Given the description of an element on the screen output the (x, y) to click on. 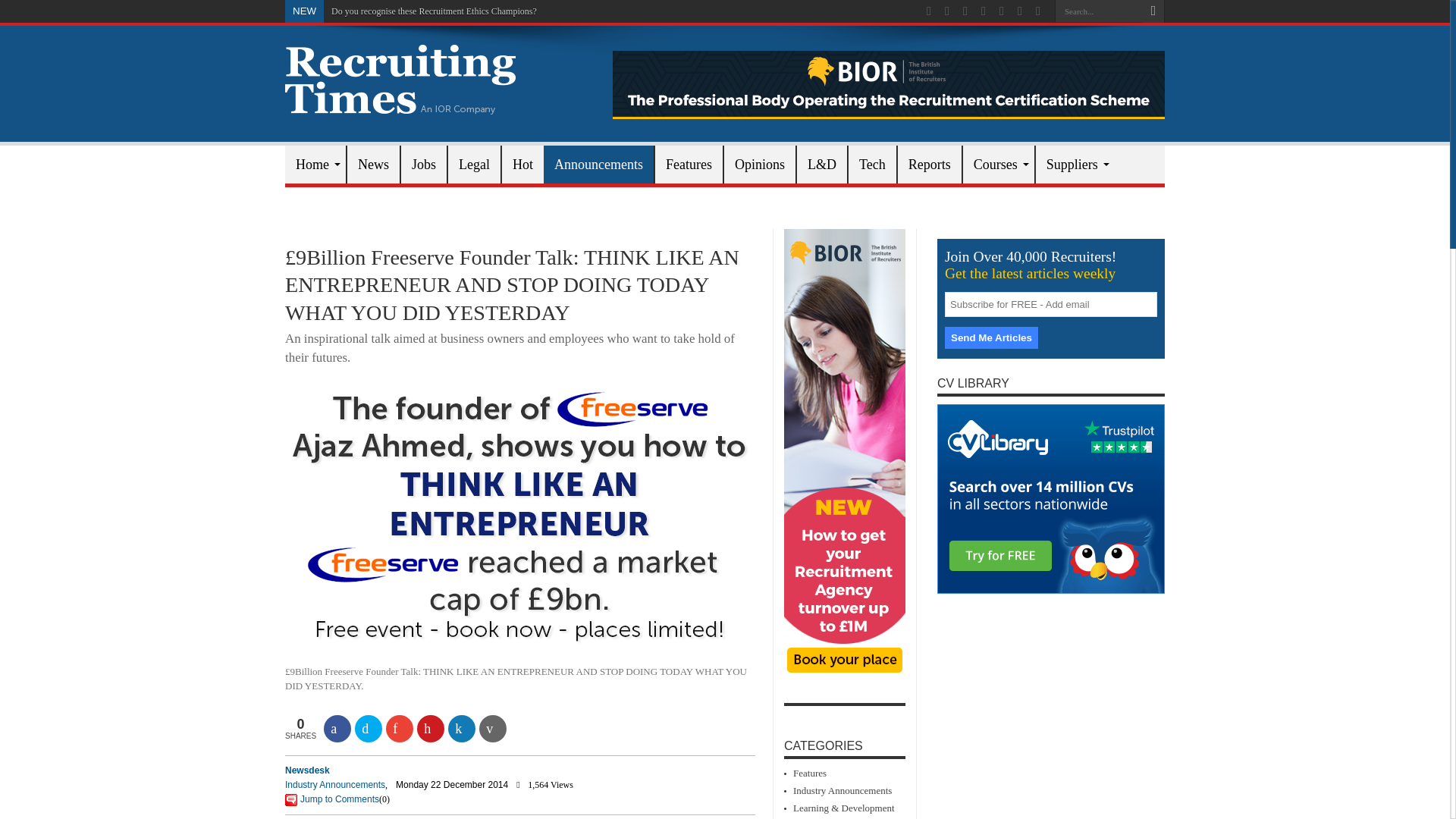
Courses (997, 164)
Suppliers (1075, 164)
News (372, 164)
Tech (871, 164)
Opinions (758, 164)
Features (687, 164)
Search (1152, 11)
Do you recognise these Recruitment Ethics Champions? (434, 11)
Home (315, 164)
Announcements (598, 164)
Jobs (423, 164)
Search... (1097, 11)
Do you recognise these Recruitment Ethics Champions? (434, 11)
Hot (521, 164)
